Given the description of an element on the screen output the (x, y) to click on. 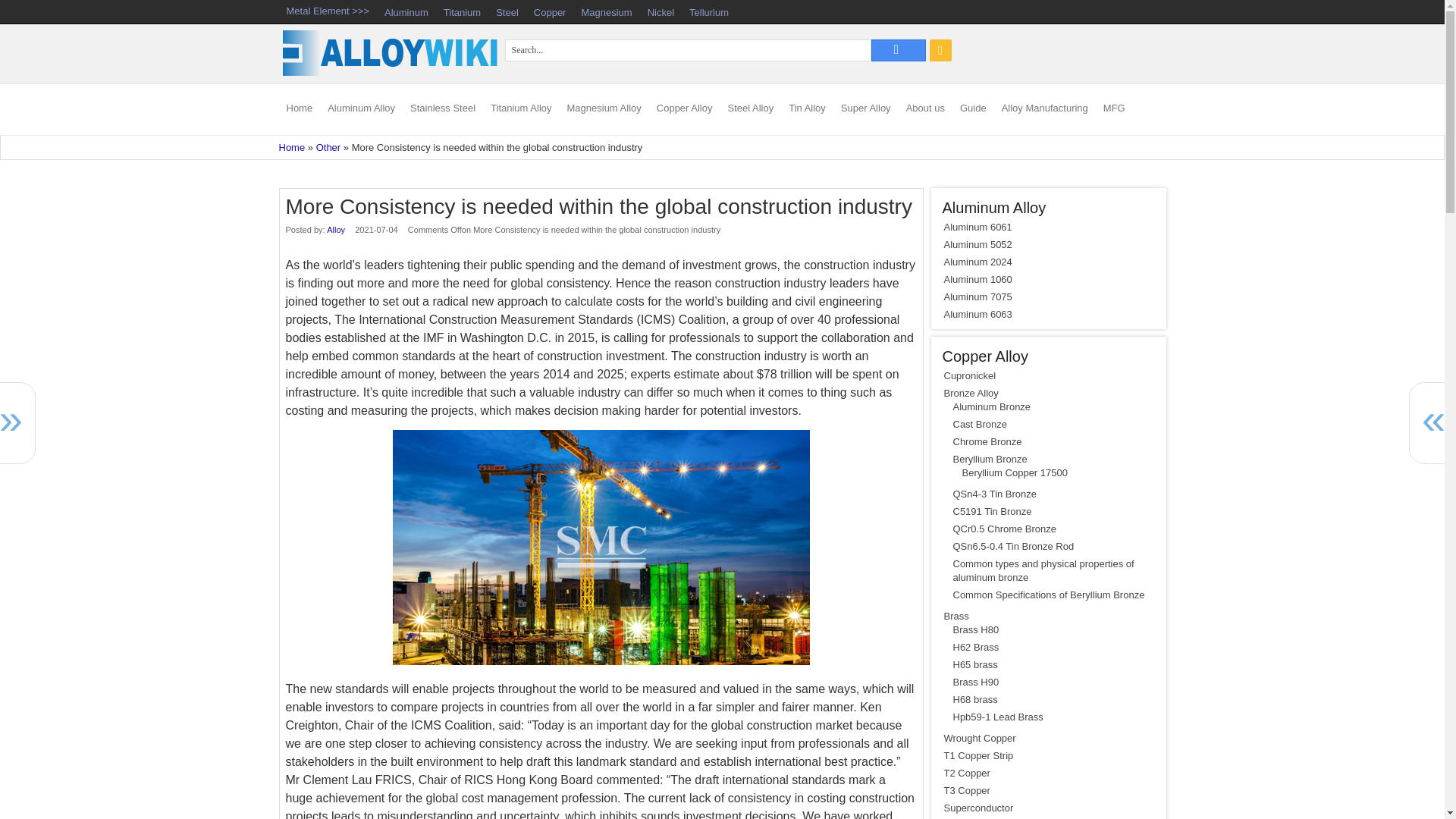
Search... (687, 50)
Magnesium (606, 11)
Super Alloy (865, 109)
Steel Alloy (750, 109)
Search... (687, 50)
Copper (549, 11)
Tin Alloy (806, 109)
Nickel (660, 11)
Home (292, 147)
Stainless Steel (443, 109)
Magnesium Alloy (604, 109)
Alloy Manufacturing (1045, 109)
Tellurium (708, 11)
Alloy Wiki (390, 73)
Aluminum (406, 11)
